Given the description of an element on the screen output the (x, y) to click on. 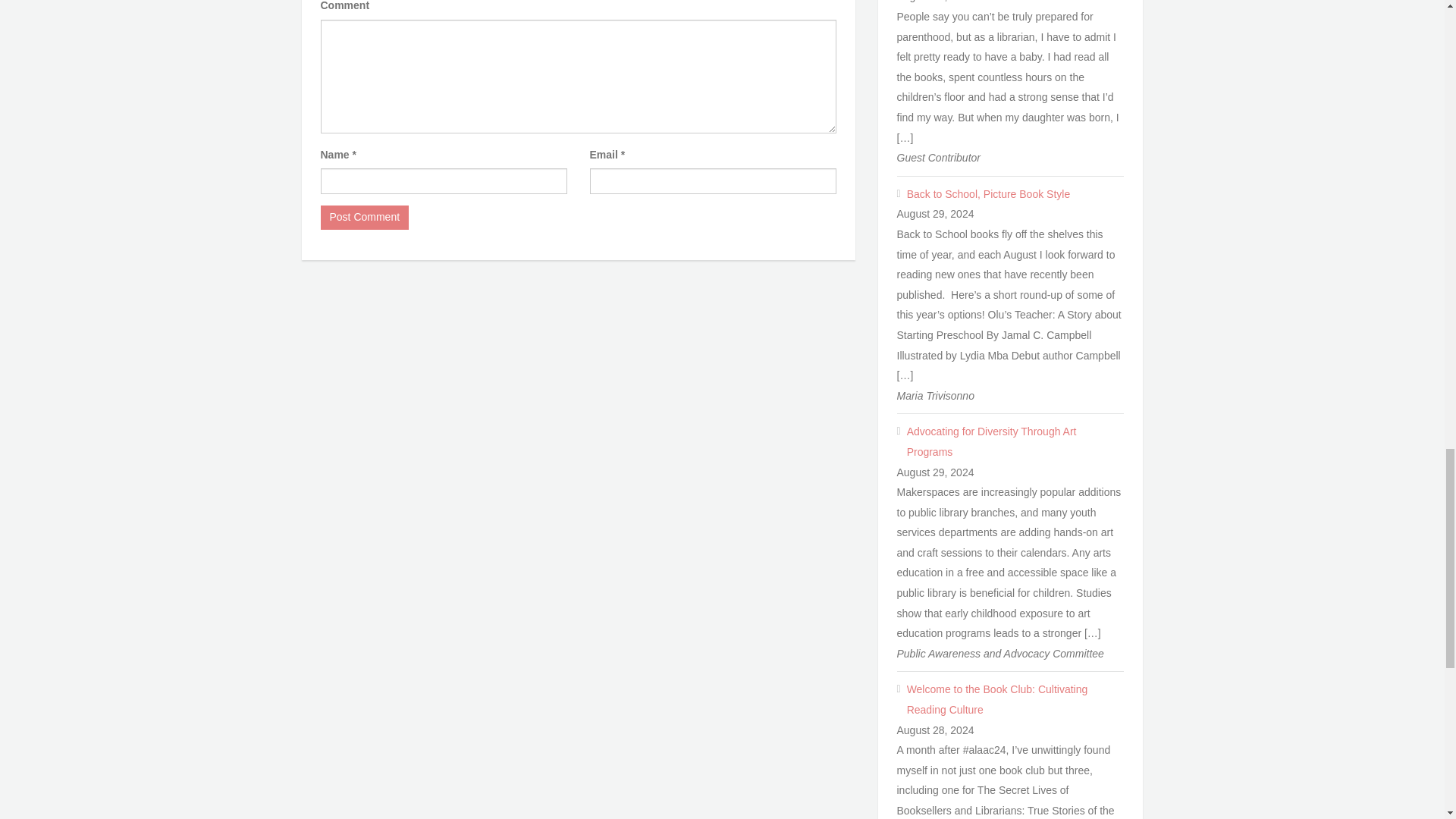
Post Comment (364, 217)
Post Comment (364, 217)
Back to School, Picture Book Style (1015, 194)
Advocating for Diversity Through Art Programs (1015, 441)
Welcome to the Book Club: Cultivating Reading Culture (1015, 699)
